Given the description of an element on the screen output the (x, y) to click on. 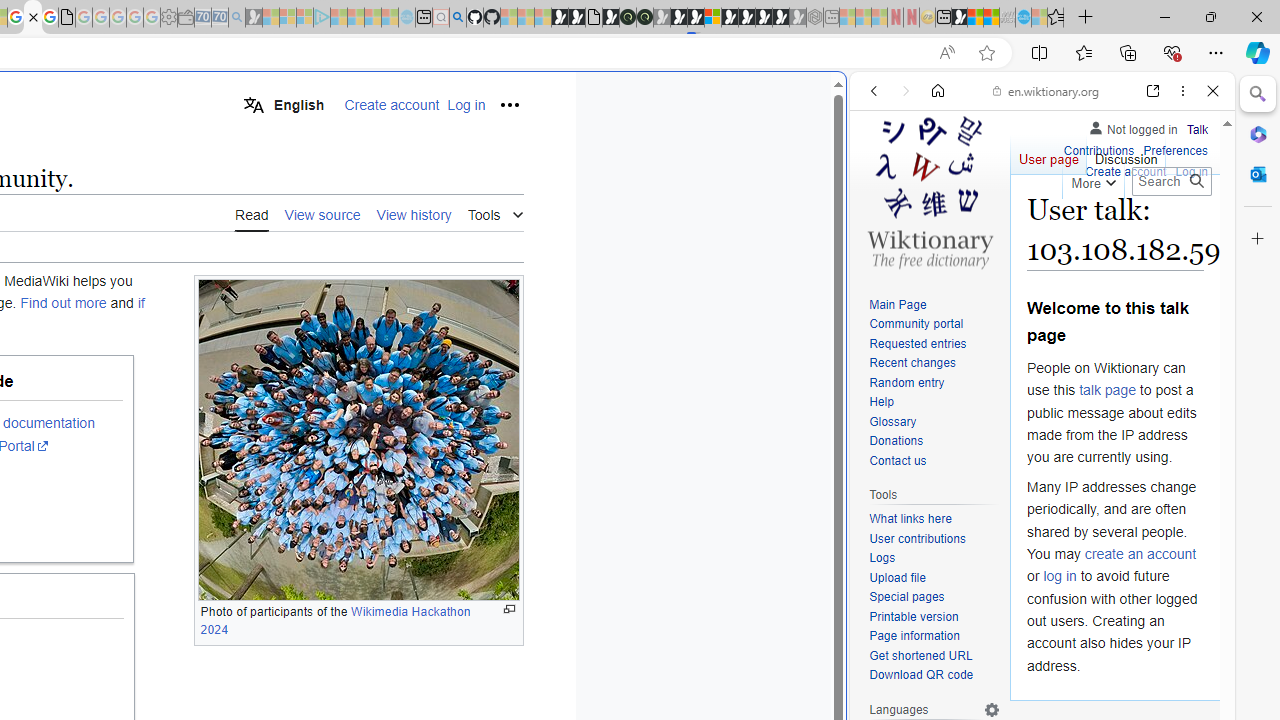
Printable version (913, 616)
Main Page (897, 303)
create an account (1140, 553)
en.wiktionary.org (1046, 90)
Sign in to your account (712, 17)
Page information (934, 637)
View history (413, 213)
Glossary (892, 421)
Not logged in (1132, 126)
